Given the description of an element on the screen output the (x, y) to click on. 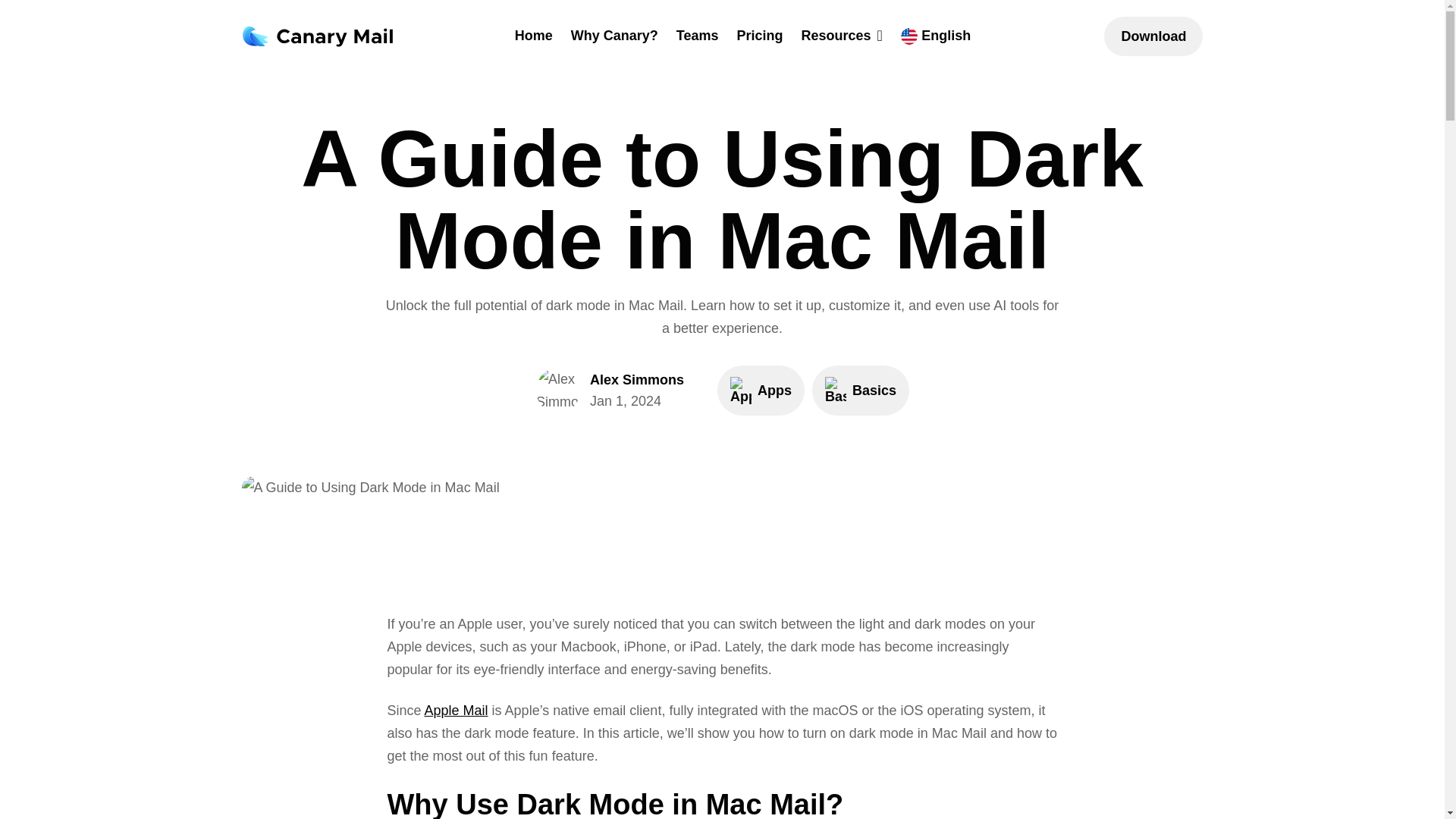
Download (1152, 36)
Home (534, 35)
Basics (609, 390)
Why Canary? (860, 390)
Apps (614, 35)
Pricing (761, 390)
English (759, 35)
Apple Mail (936, 36)
Teams (456, 710)
